Given the description of an element on the screen output the (x, y) to click on. 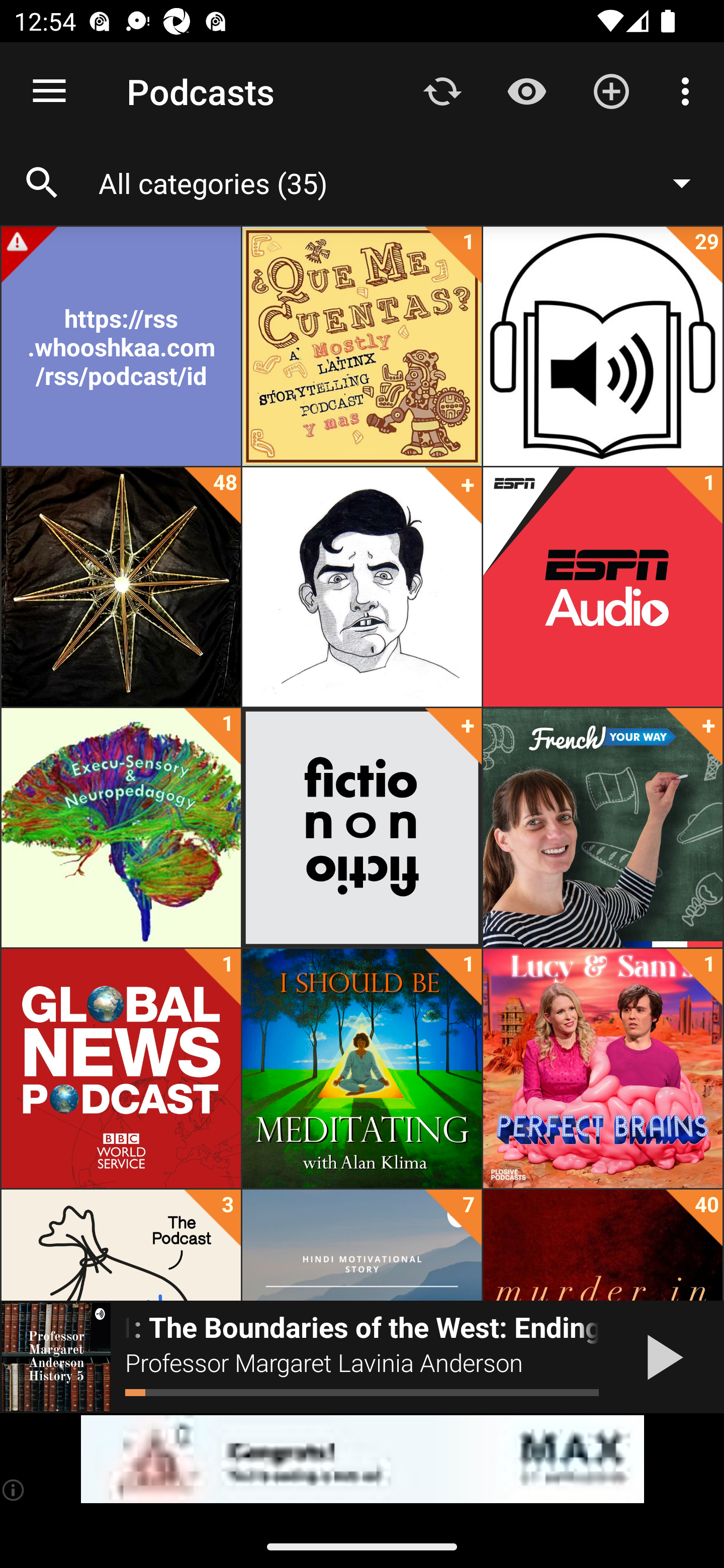
Open navigation sidebar (49, 91)
Update (442, 90)
Show / Hide played content (526, 90)
Add new Podcast (611, 90)
More options (688, 90)
Search (42, 183)
All categories (35) (404, 182)
https://rss.whooshkaa.com/rss/podcast/id/5884 (121, 346)
¿Qué Me Cuentas?: Latinx Storytelling 1 (361, 346)
Audiobooks 29 (602, 346)
Audiobooks 48 (121, 587)
Cooking Issues with Dave Arnold + (361, 587)
ESPN Audio 1 (602, 587)
fiction/non/fiction + (361, 827)
Global News Podcast 1 (121, 1068)
Lucy & Sam's Perfect Brains 1 (602, 1068)
Play / Pause (660, 1356)
app-monetization (362, 1459)
(i) (14, 1489)
